Given the description of an element on the screen output the (x, y) to click on. 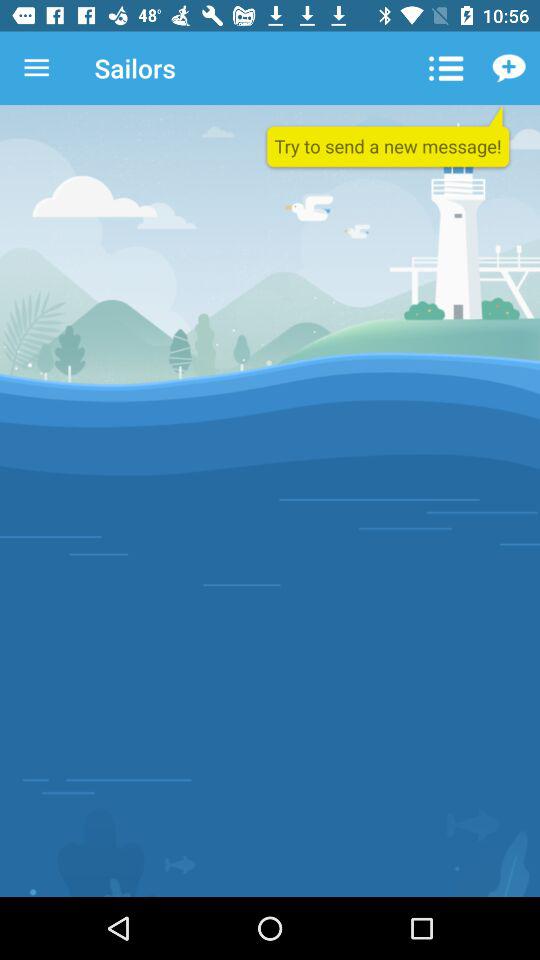
press icon to the left of the sailors icon (36, 68)
